Given the description of an element on the screen output the (x, y) to click on. 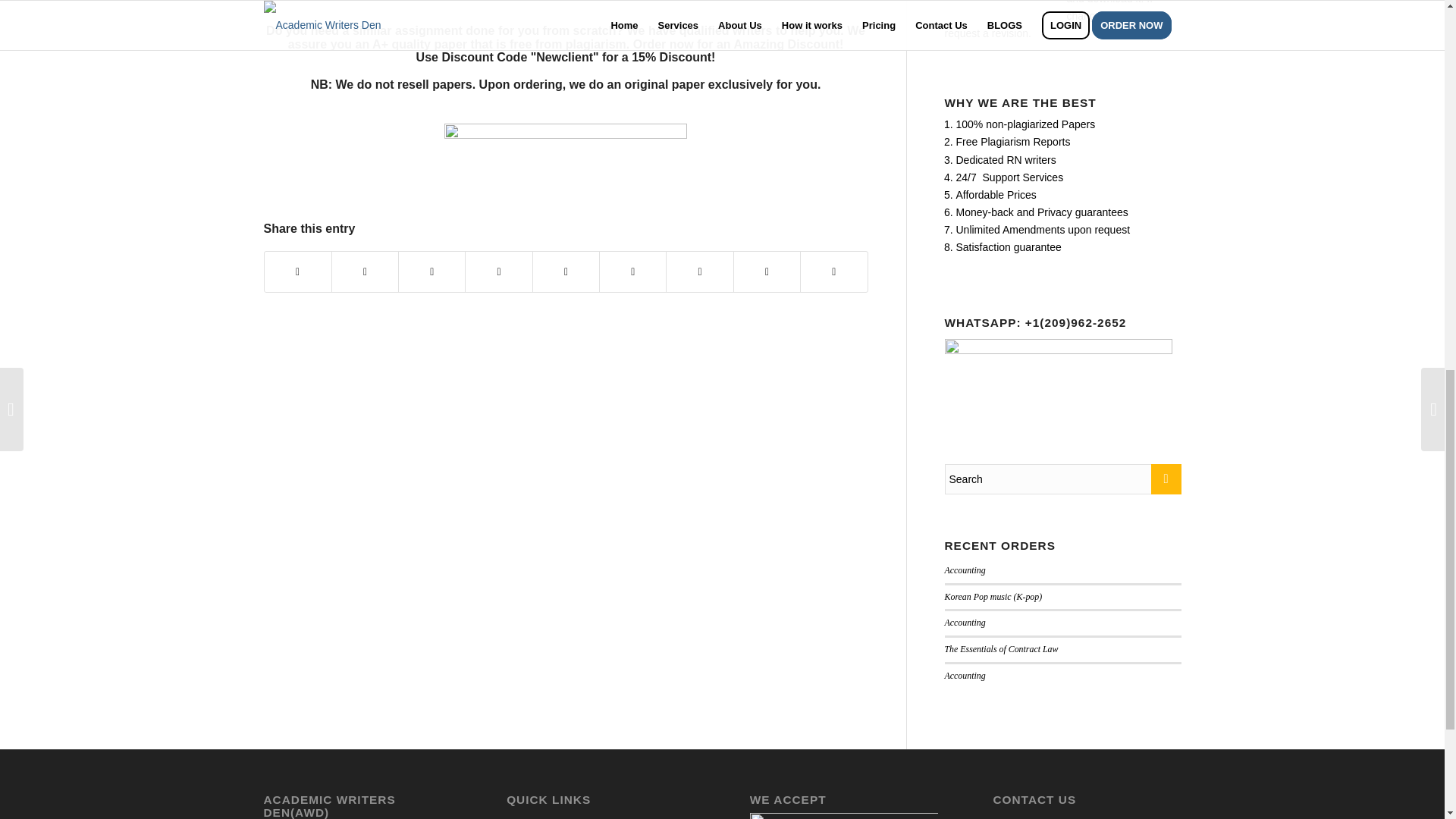
The Essentials of Contract Law (1001, 648)
Accounting (964, 622)
Accounting (964, 675)
How it works (600, 816)
Accounting (964, 570)
